Given the description of an element on the screen output the (x, y) to click on. 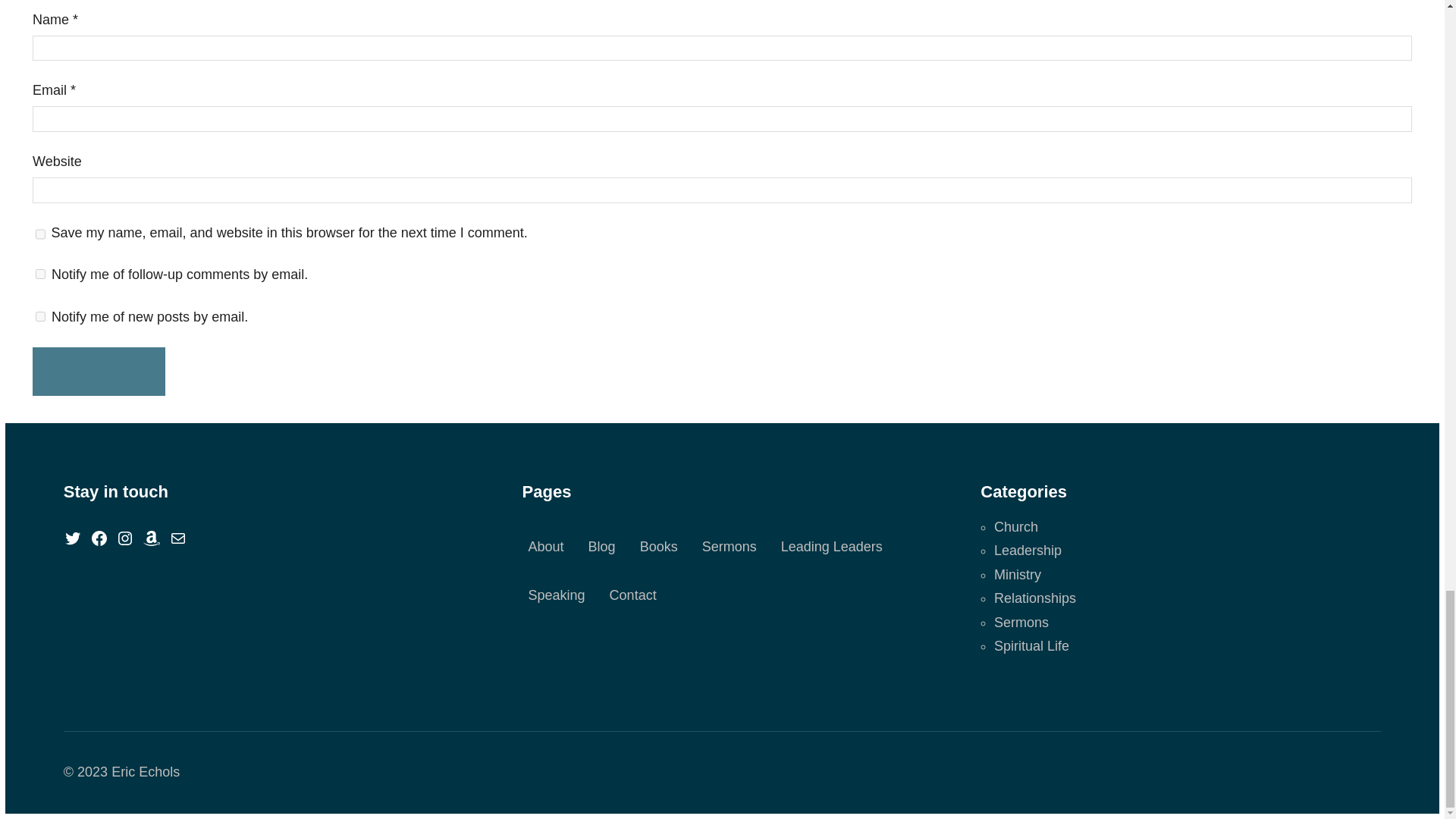
About (546, 547)
Contact (633, 596)
Speaking (556, 596)
Post Comment (98, 371)
Amazon (151, 538)
subscribe (39, 316)
Blog (601, 547)
Mail (177, 538)
Leading Leaders (831, 547)
Twitter (72, 538)
